Given the description of an element on the screen output the (x, y) to click on. 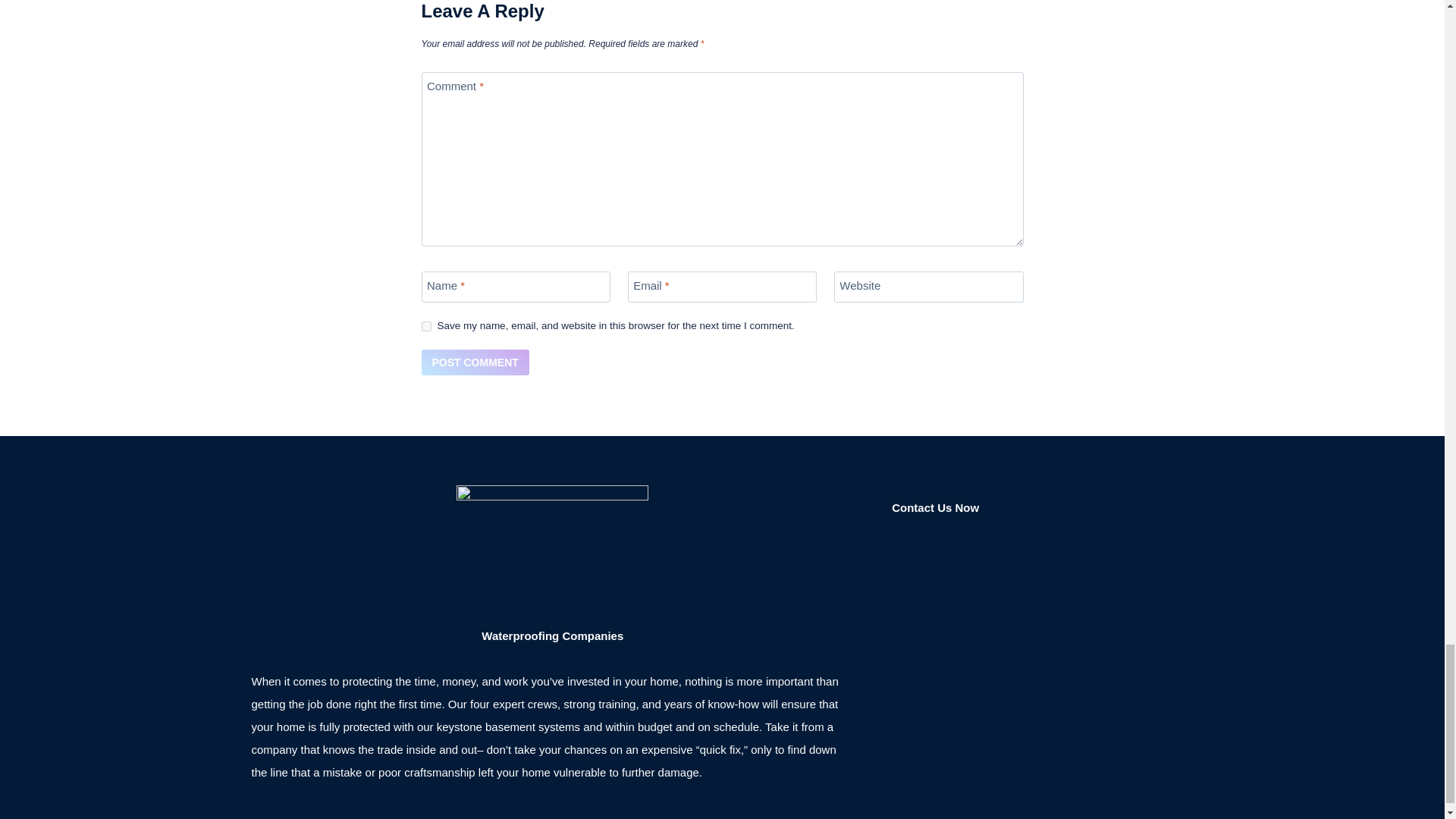
Post Comment (475, 362)
yes (426, 326)
